Given the description of an element on the screen output the (x, y) to click on. 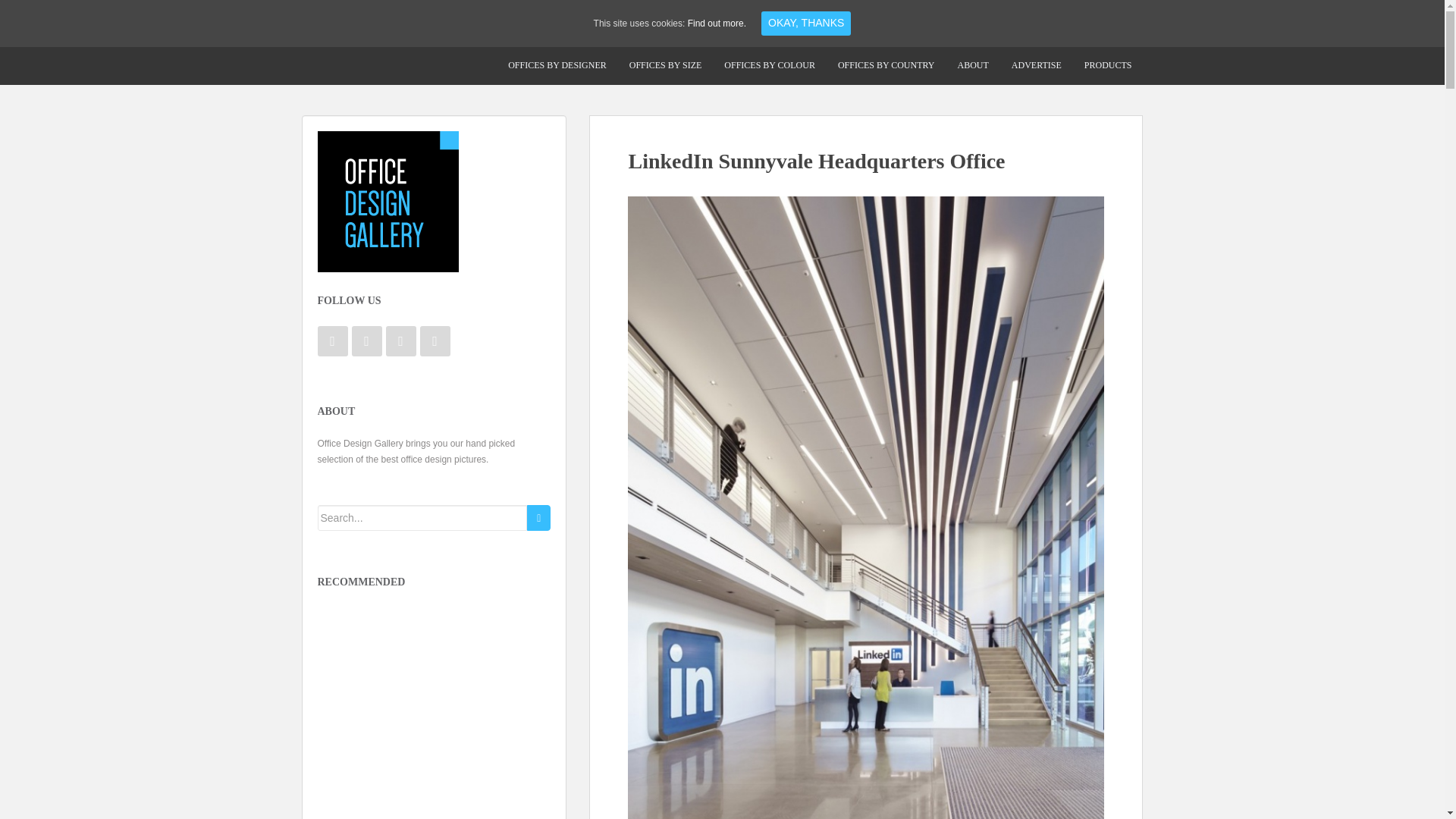
OFFICES BY COLOUR (770, 64)
Follow us on rss (434, 340)
Go (538, 517)
ABOUT (973, 64)
Offices By Designer (556, 64)
ADVERTISE (1036, 64)
Advertisement (430, 701)
Advertisement (430, 810)
Follow us on facebook (332, 340)
About (973, 64)
Products (1107, 64)
Advertise (1036, 64)
Offices By Country (886, 64)
OFFICES BY COUNTRY (886, 64)
Offices By Colour (770, 64)
